Given the description of an element on the screen output the (x, y) to click on. 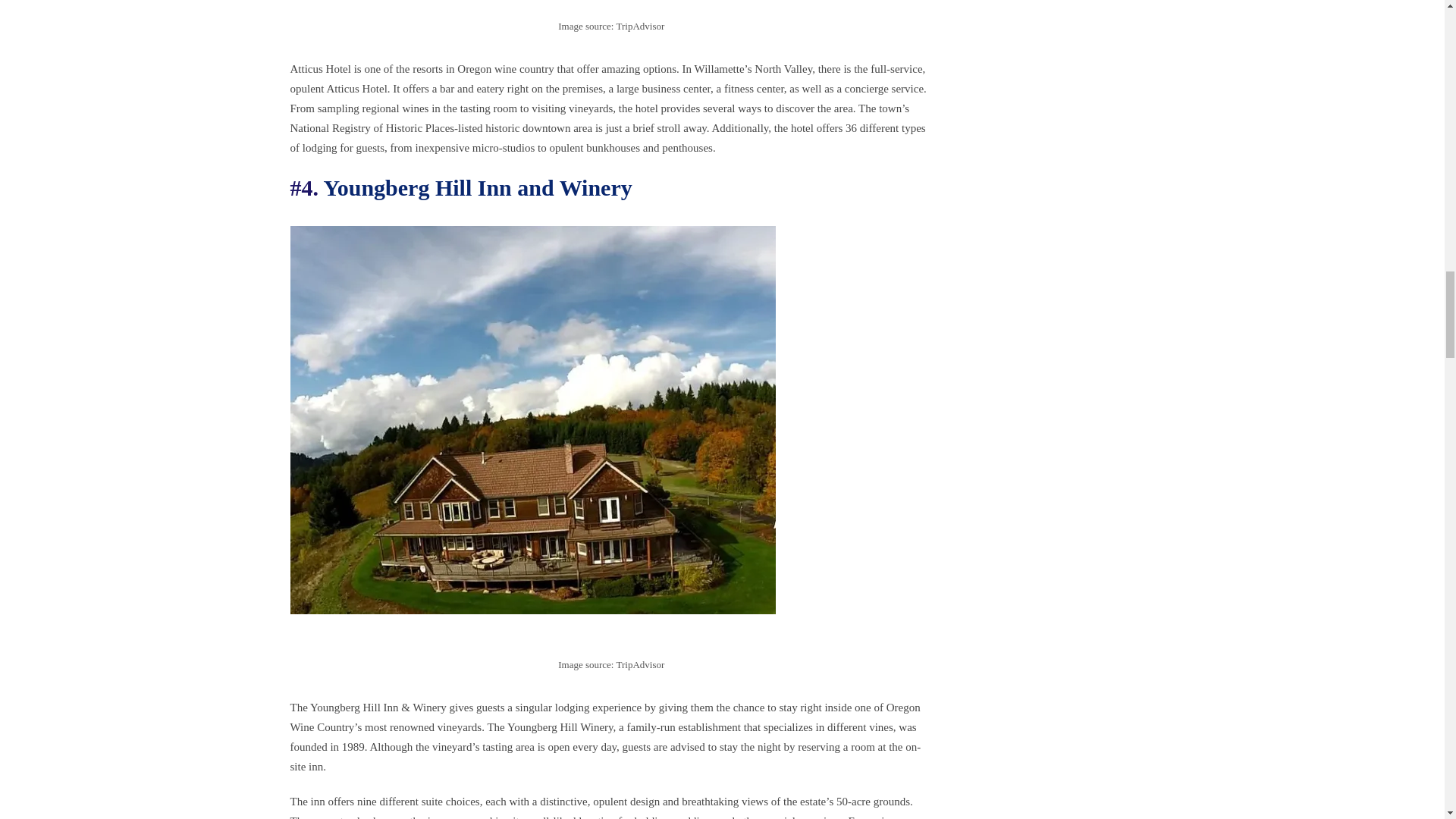
Youngberg Hill Inn and Winery (477, 187)
